Given the description of an element on the screen output the (x, y) to click on. 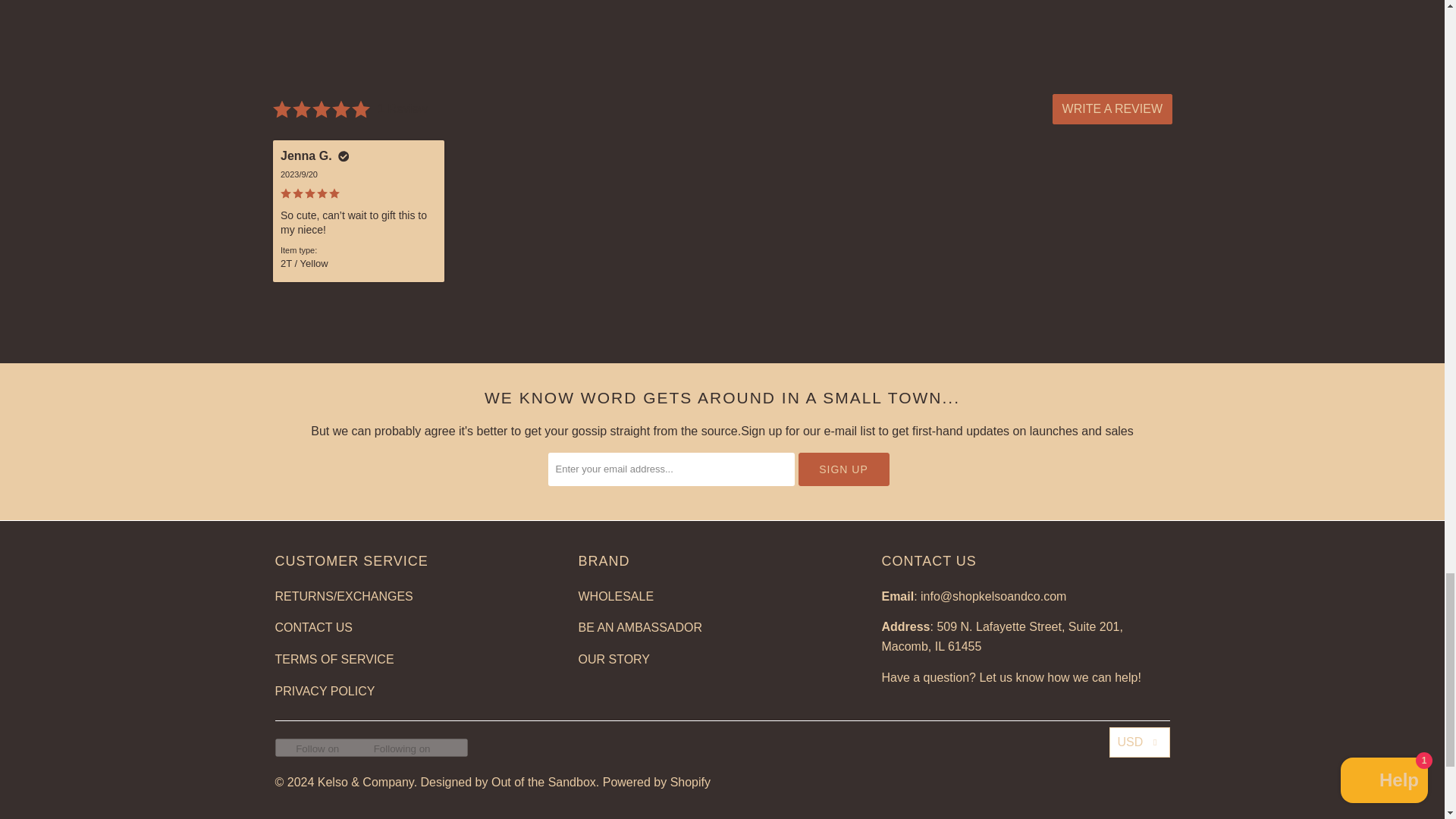
Turbo Shopify Theme by Out of the Sandbox (507, 781)
Sign Up (842, 469)
